Given the description of an element on the screen output the (x, y) to click on. 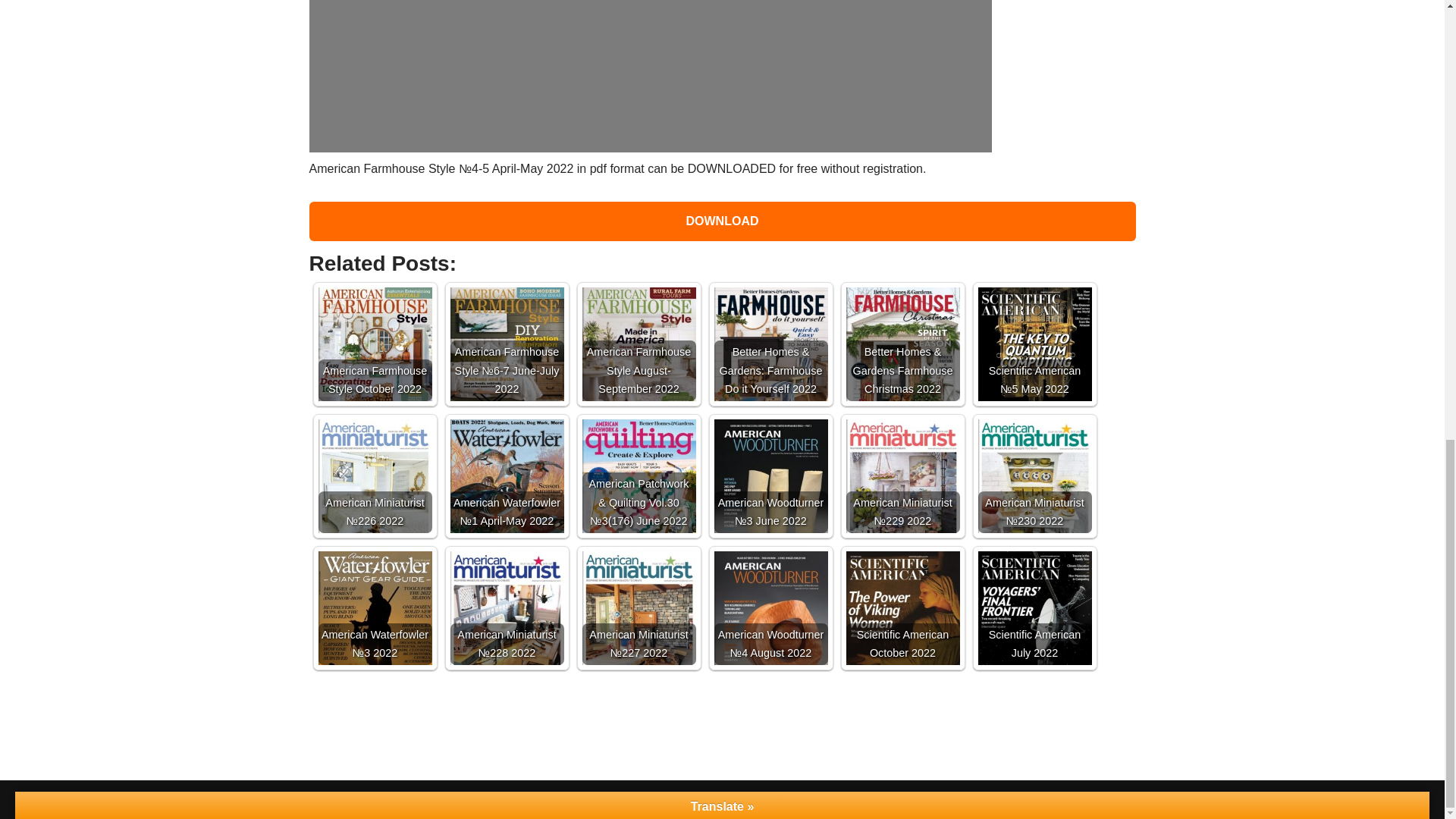
American Farmhouse Style August-September 2022 (638, 358)
American Farmhouse Style October 2022 (375, 358)
